Given the description of an element on the screen output the (x, y) to click on. 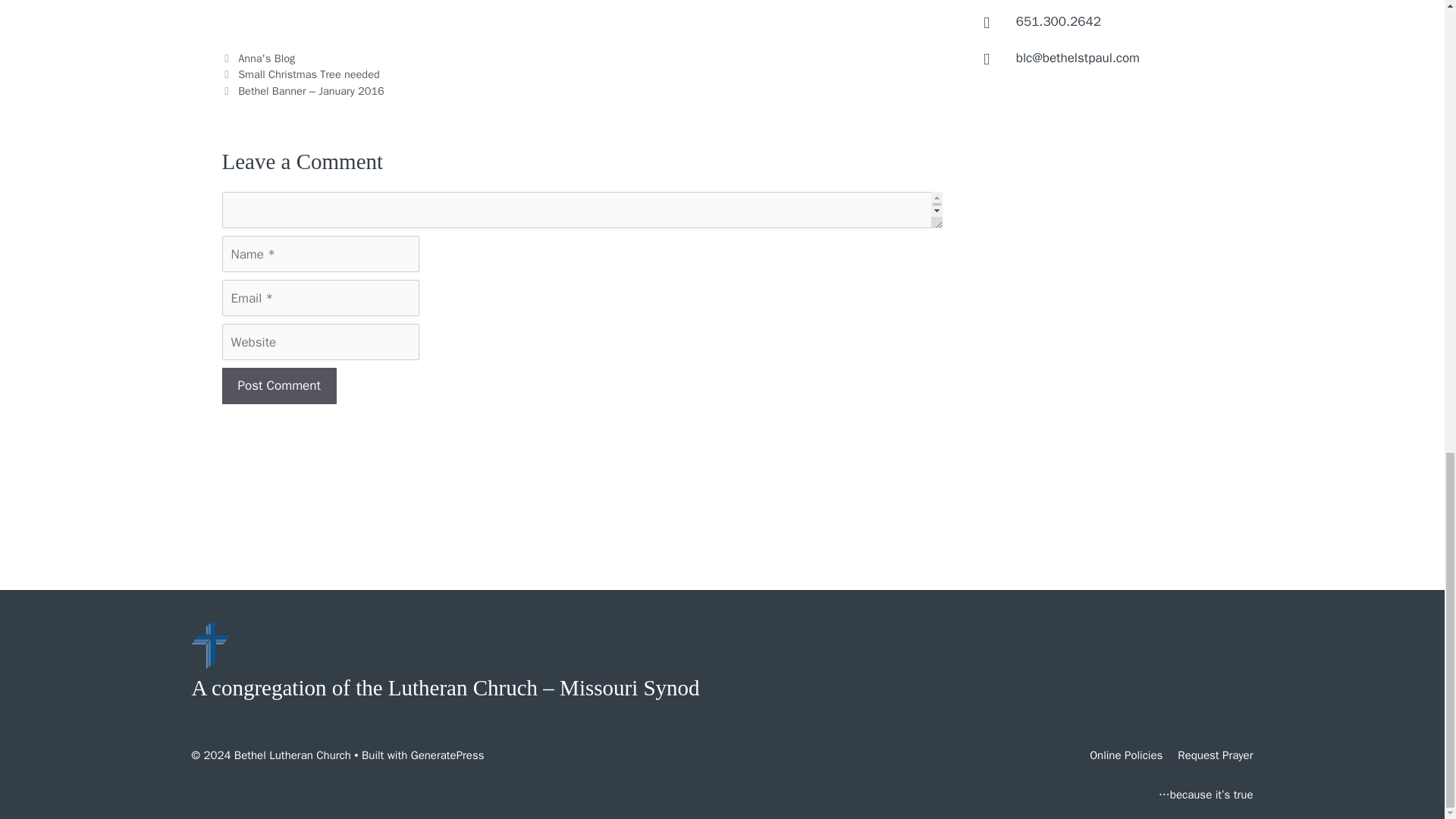
GeneratePress (447, 755)
Online Policies (1125, 755)
651.300.2642 (1058, 21)
Post Comment (278, 385)
Request Prayer (1214, 755)
Anna's Blog (266, 58)
Small Christmas Tree needed (309, 74)
Post Comment (278, 385)
